Given the description of an element on the screen output the (x, y) to click on. 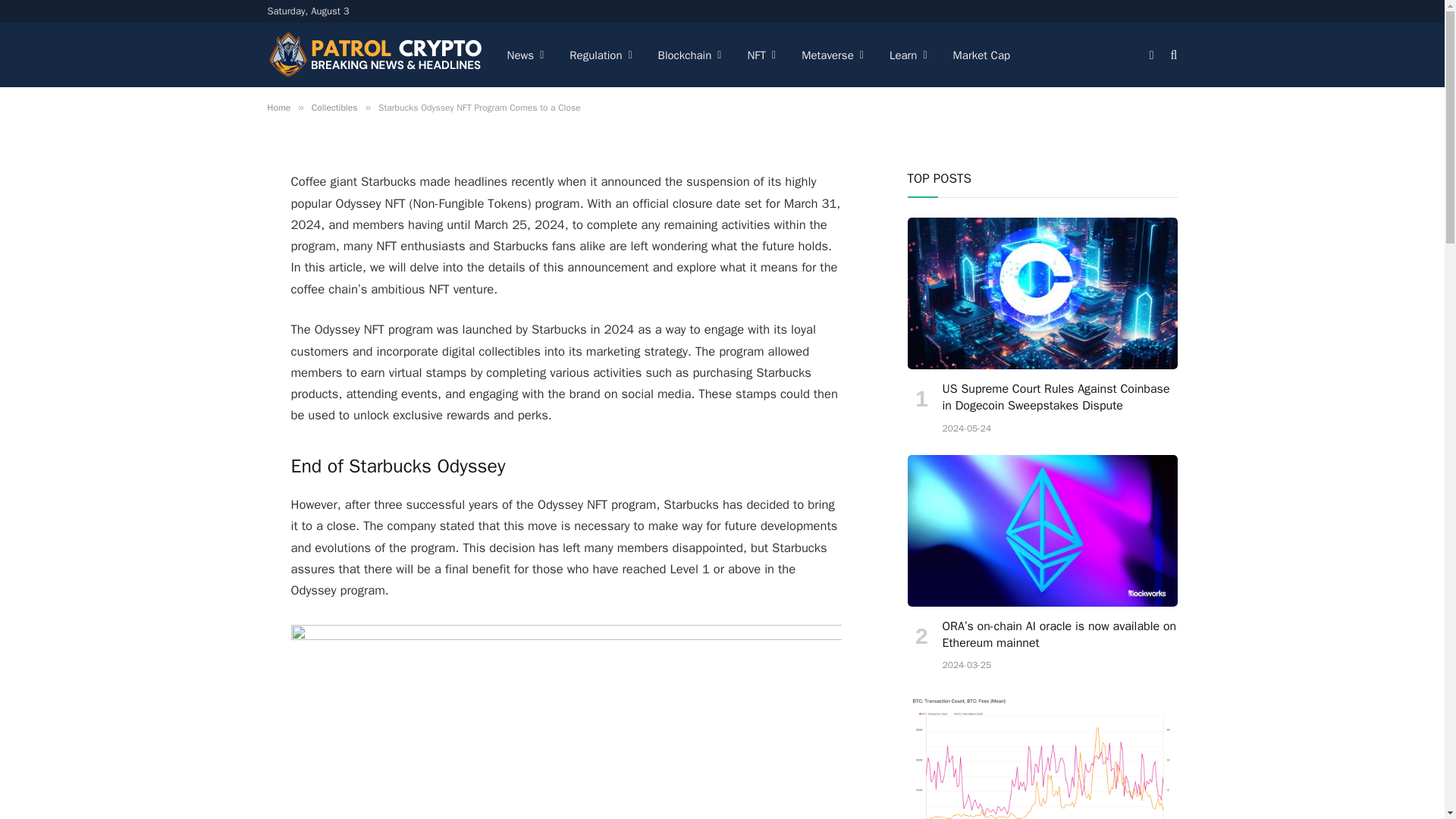
Blockchain (690, 54)
Patrol Crypto (373, 54)
News (526, 54)
Regulation (600, 54)
